Given the description of an element on the screen output the (x, y) to click on. 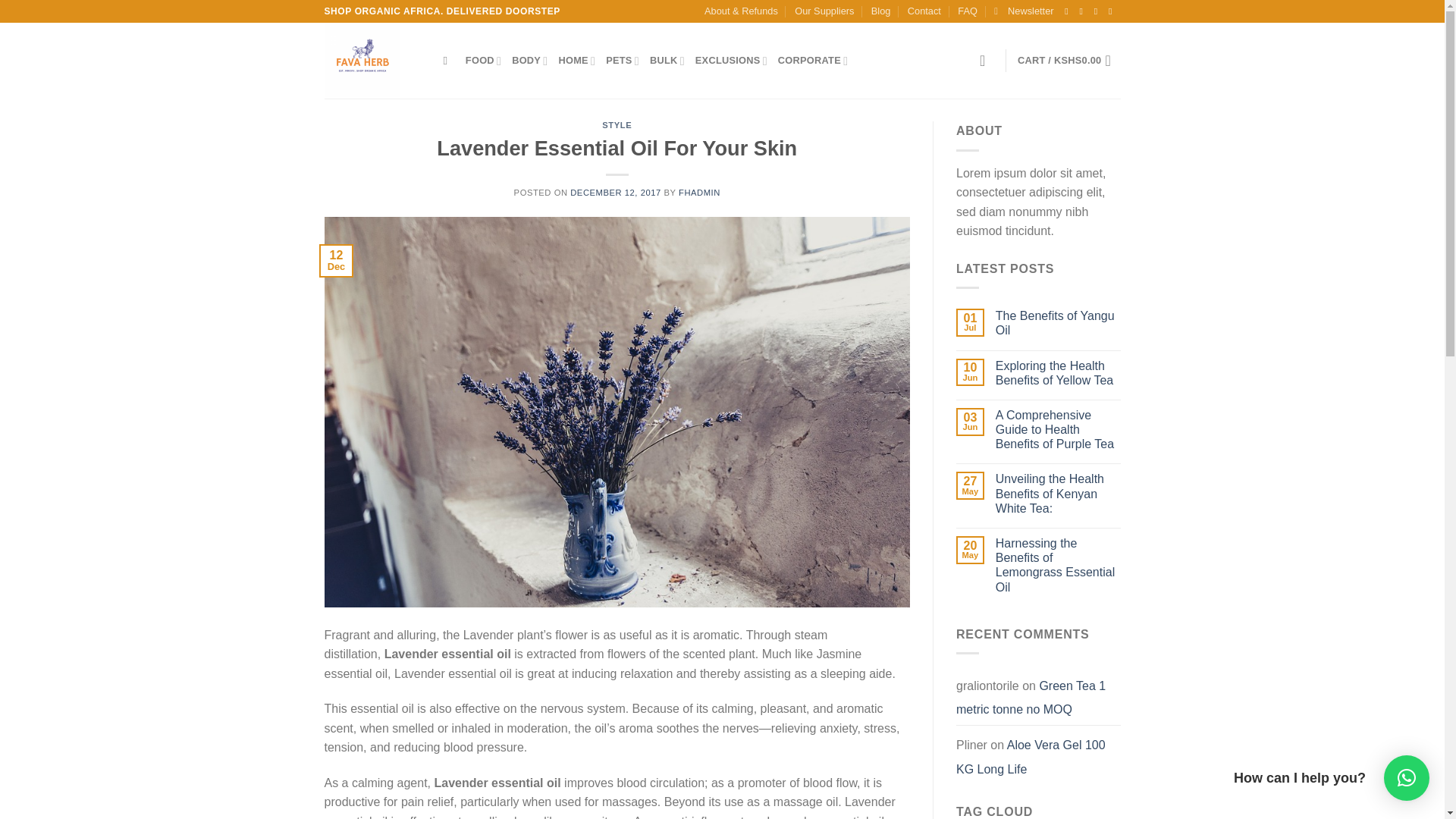
Contact (923, 11)
FOOD (482, 60)
The Benefits of Yangu Oil (1058, 322)
Our Suppliers (823, 11)
Fava Herb - Shop Organic Africa (372, 60)
Sign up to be notified (1023, 11)
BODY (529, 60)
Cart (1069, 60)
Newsletter (1023, 11)
